Given the description of an element on the screen output the (x, y) to click on. 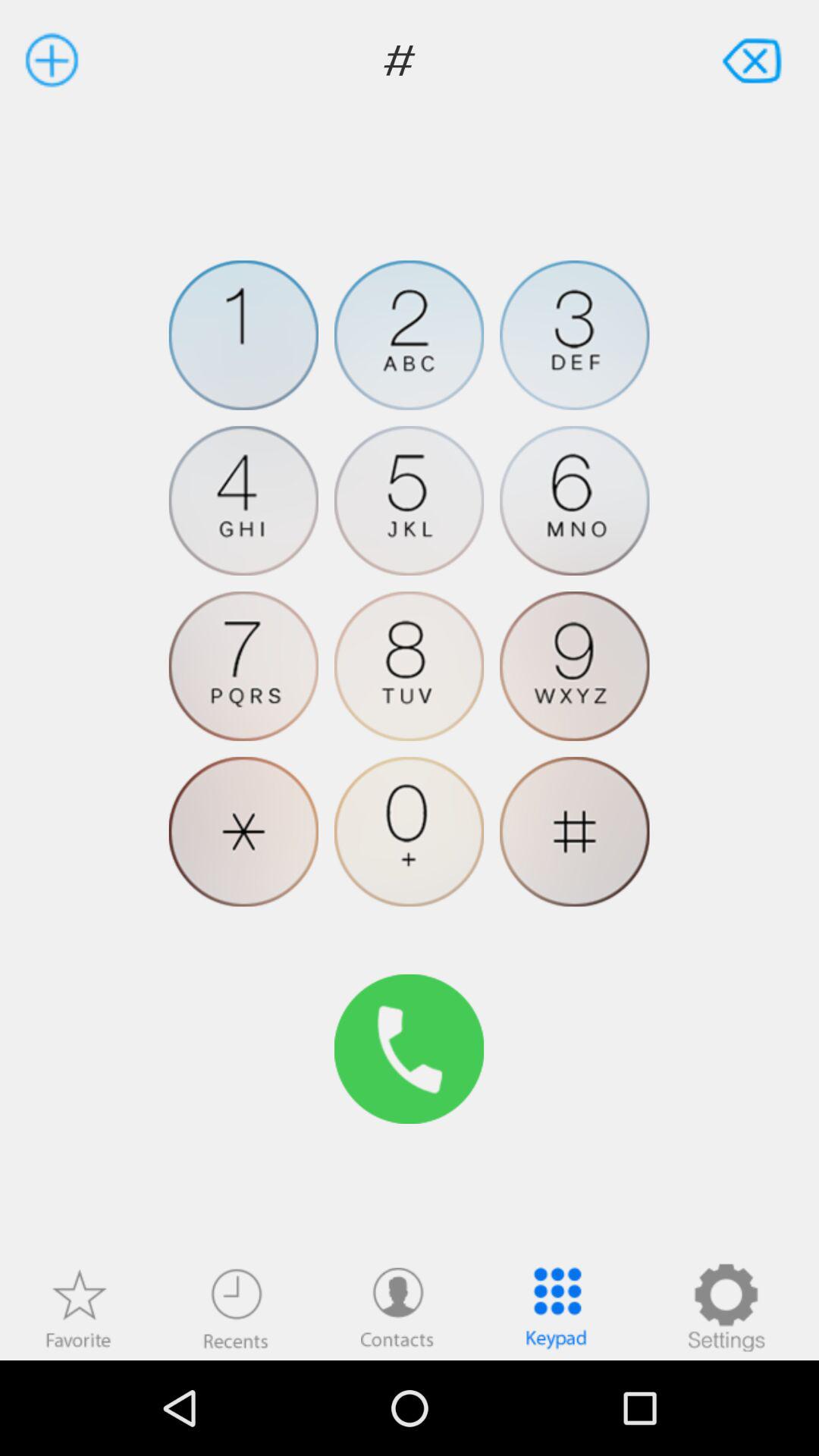
dial 8 (409, 666)
